Given the description of an element on the screen output the (x, y) to click on. 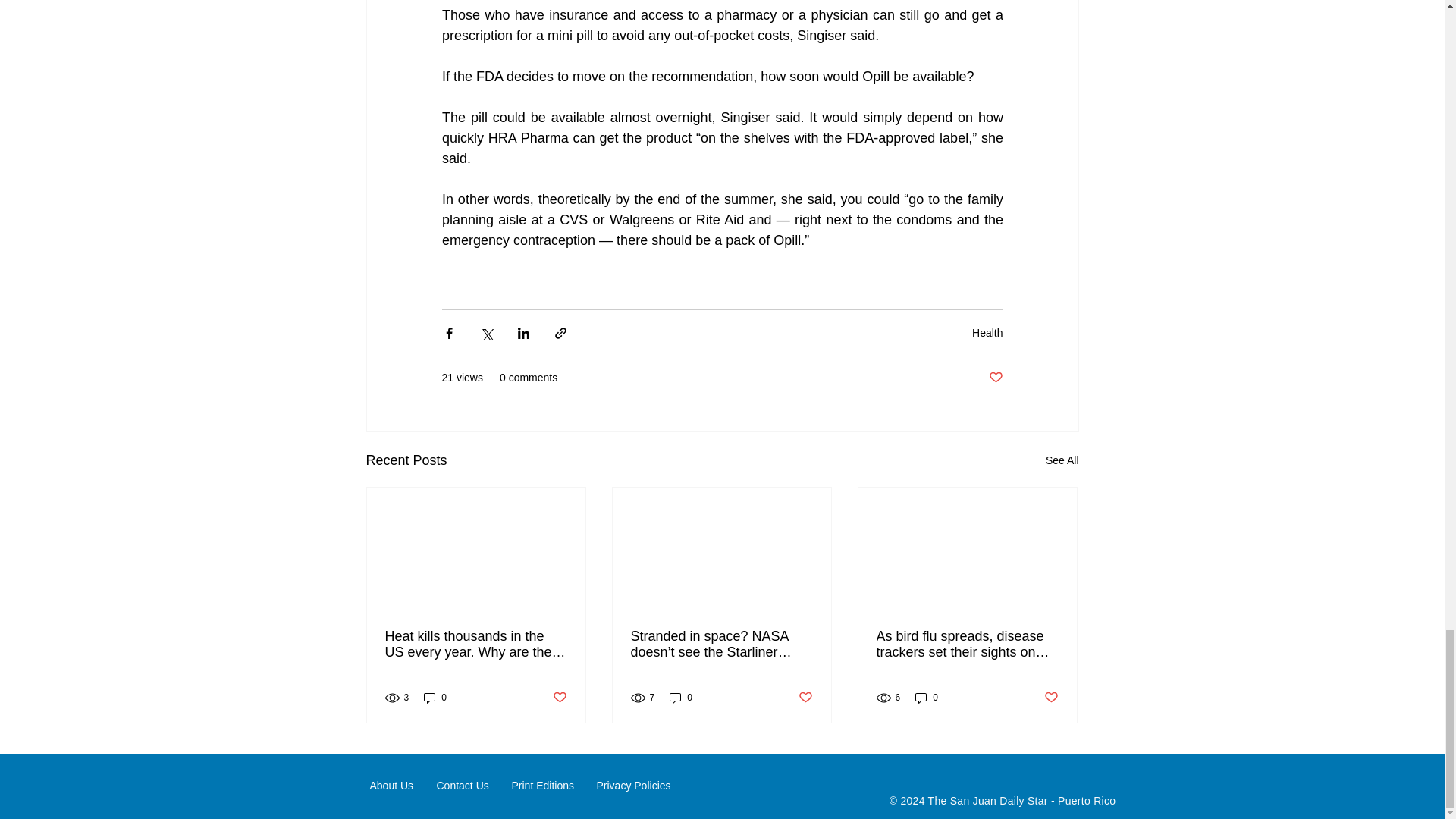
Post not marked as liked (995, 377)
0 (681, 698)
See All (1061, 460)
0 (435, 698)
Post not marked as liked (558, 697)
Health (987, 332)
